Given the description of an element on the screen output the (x, y) to click on. 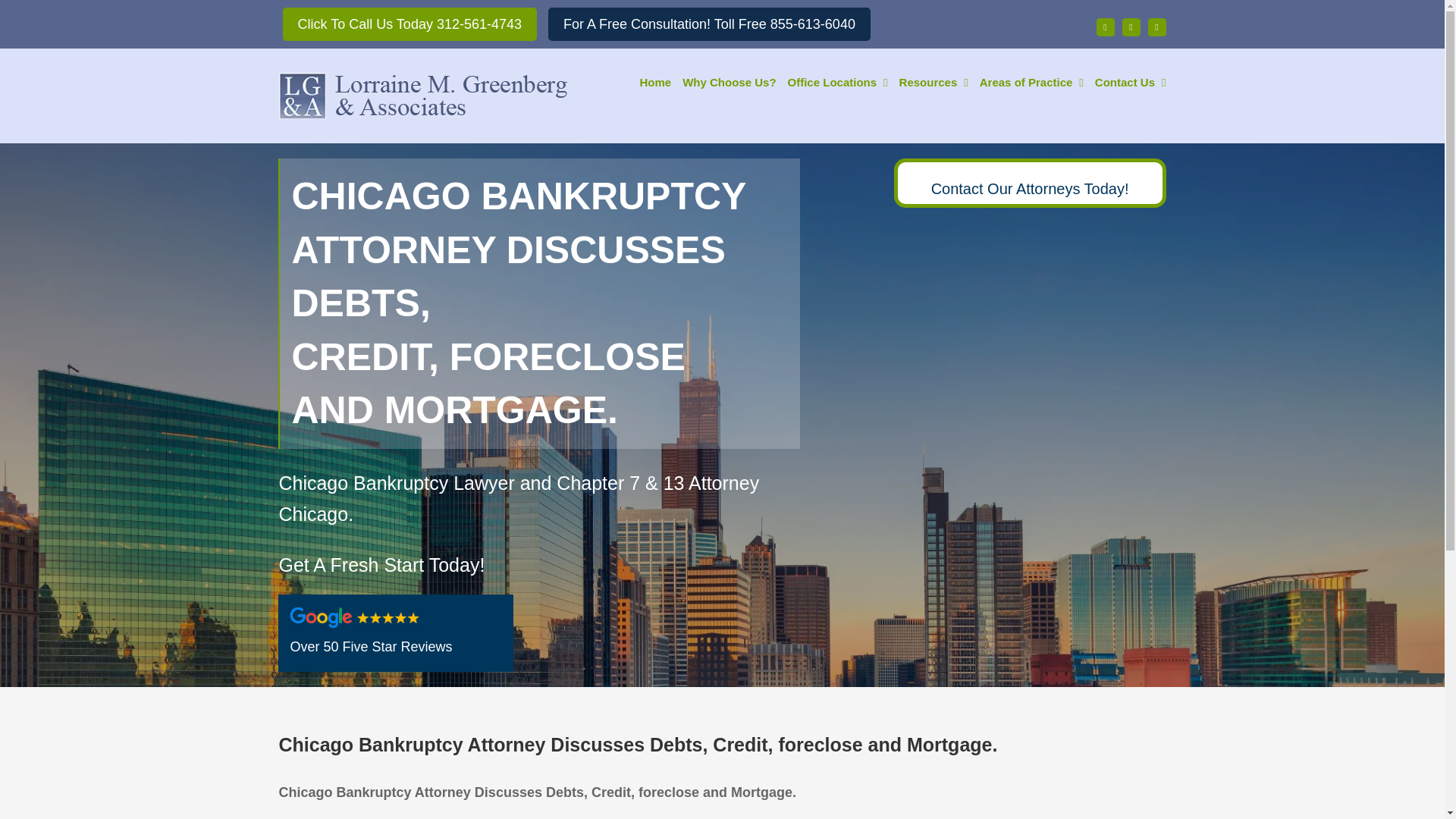
Facebook (1105, 27)
Why Choose Us? (729, 81)
Twitter (1131, 27)
Resources (933, 81)
Twitter (1131, 27)
LinkedIn (1157, 27)
Areas of Practice (1031, 81)
LinkedIn (1157, 27)
Facebook (1105, 27)
For A Free Consultation! Toll Free 855-613-6040 (709, 23)
Office Locations (837, 81)
Click To Call Us Today 312-561-4743 (409, 23)
